Given the description of an element on the screen output the (x, y) to click on. 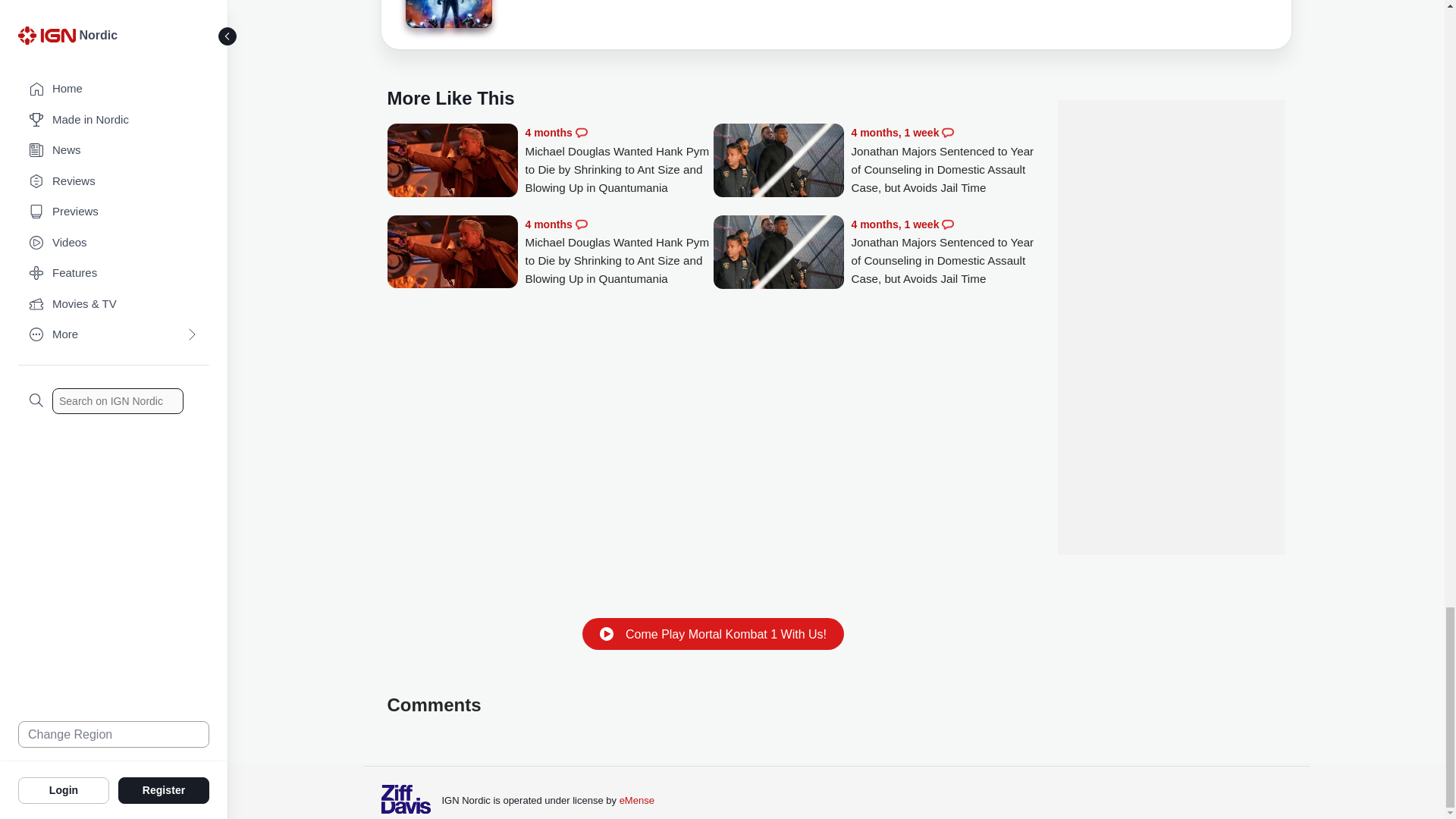
Comments (947, 132)
Ant-Man and the Wasp: Quantumania (448, 16)
Comments (581, 132)
Ant-Man and the Wasp: Quantumania (448, 13)
Comments (581, 224)
